Given the description of an element on the screen output the (x, y) to click on. 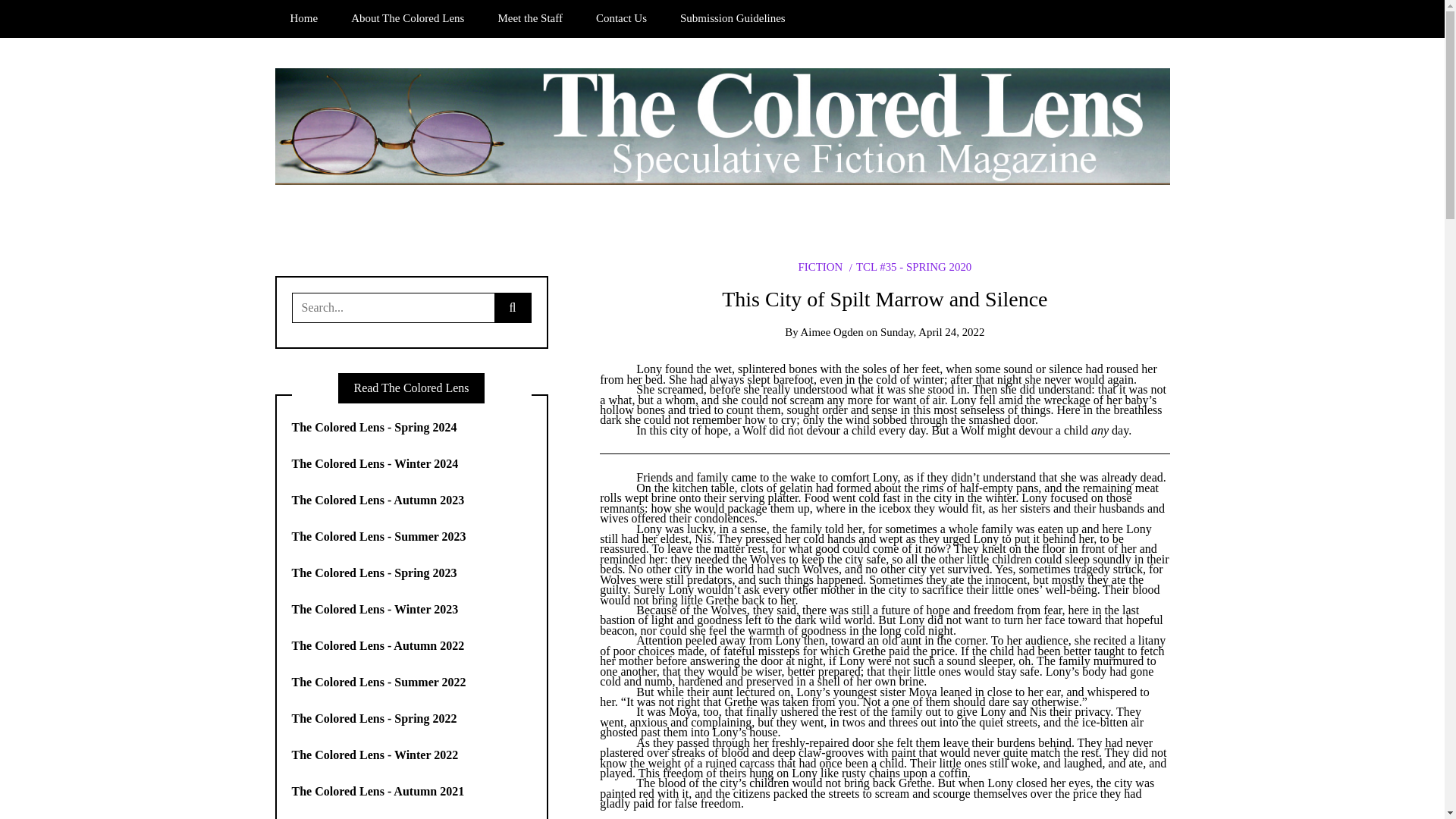
The Colored Lens - Spring 2023 (374, 572)
Contact Us (621, 18)
About The Colored Lens (407, 18)
Aimee Ogden (831, 331)
Meet the Staff (529, 18)
Posts by Aimee Ogden (831, 331)
Sunday, April 24, 2022 (932, 331)
The Colored Lens - Autumn 2022 (378, 645)
The Colored Lens - Winter 2024 (375, 463)
The Colored Lens - Autumn 2023 (378, 499)
The Colored Lens - Summer 2023 (378, 535)
FICTION (820, 266)
Home (304, 18)
Search (35, 16)
The Colored Lens - Winter 2023 (375, 608)
